Given the description of an element on the screen output the (x, y) to click on. 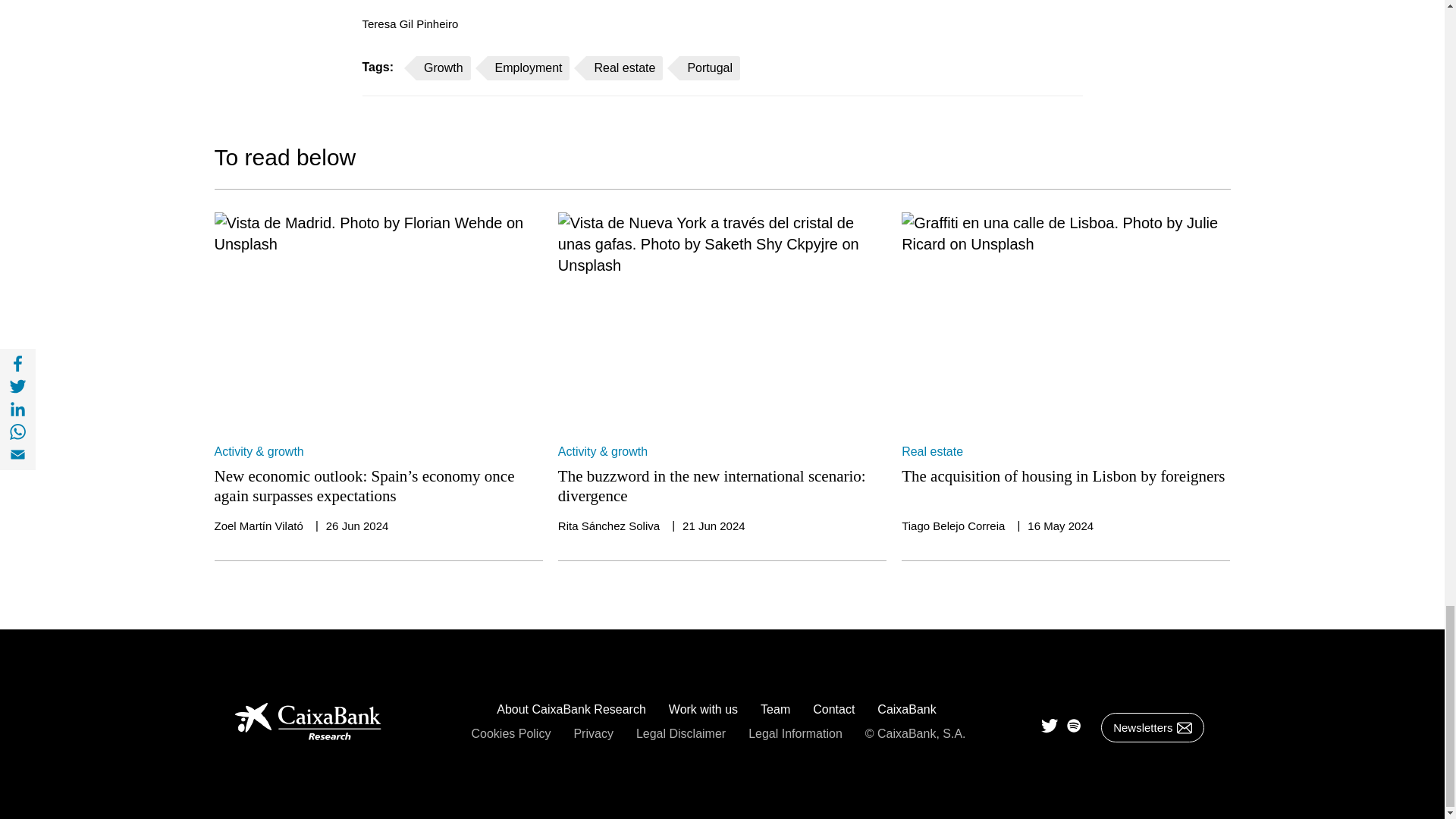
CaixaBank Research footer logo (330, 723)
